Given the description of an element on the screen output the (x, y) to click on. 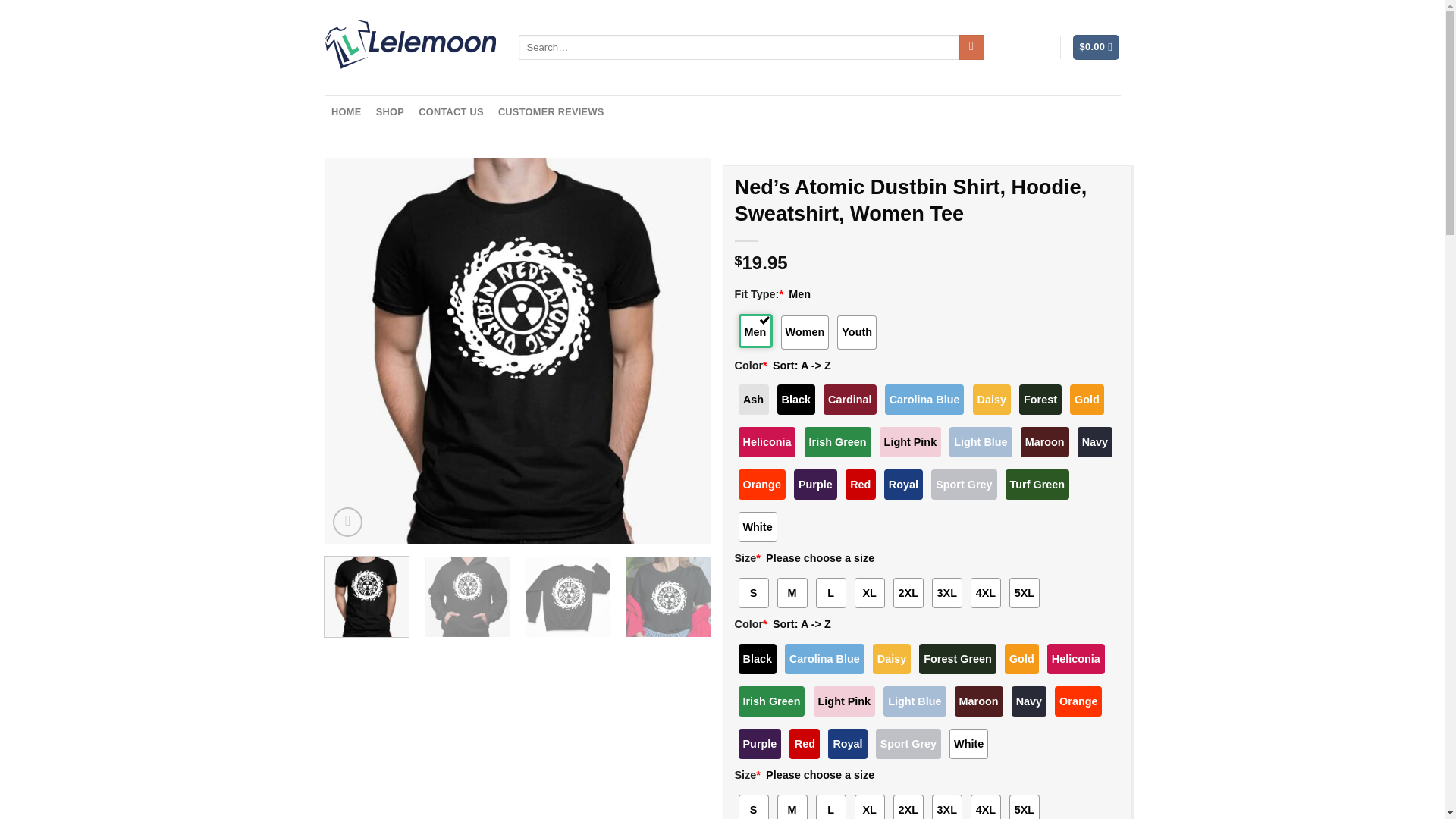
Cart (1096, 47)
Black (796, 399)
CONTACT US (452, 111)
Ned's Atomic Dustbin Shirt, Hoodie, Sweatshirt, Women Tee (567, 598)
Ned's Atomic Dustbin Shirt, Hoodie, Sweatshirt, Women Tee (467, 598)
Daisy (991, 399)
Ned's Atomic Dustbin Shirt, Hoodie, Sweatshirt, Women Tee (668, 598)
Ash (753, 399)
Cardinal (850, 399)
Carolina Blue (924, 399)
